Given the description of an element on the screen output the (x, y) to click on. 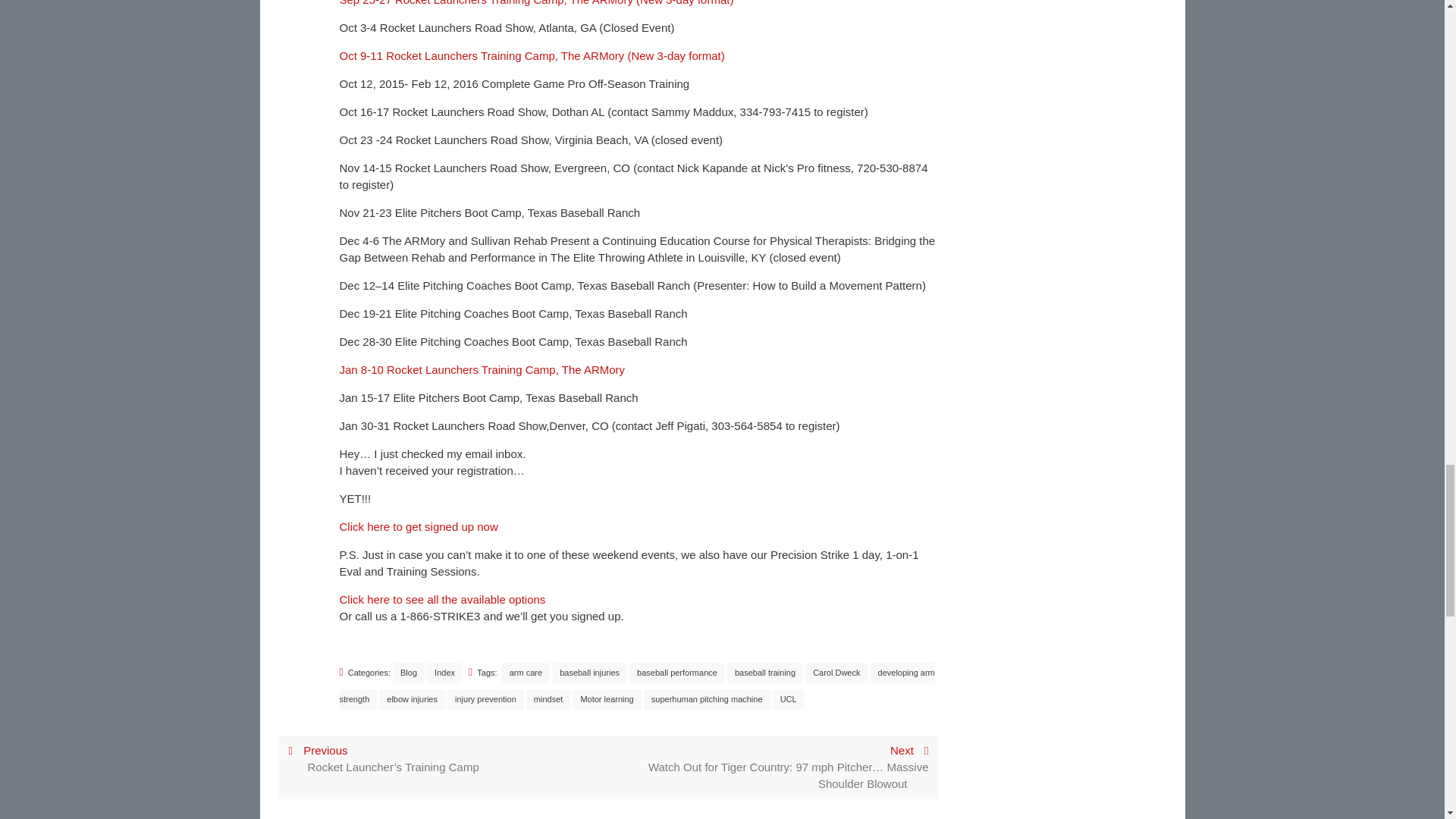
Index (444, 672)
baseball injuries (589, 672)
Blog (409, 672)
arm care (526, 672)
Carol Dweck (836, 672)
Jan 8-10 Rocket Launchers Training Camp, The ARMory (482, 369)
Click here to get signed up now (418, 526)
Click here to see all the available options (442, 599)
baseball training (764, 672)
baseball performance (676, 672)
